Given the description of an element on the screen output the (x, y) to click on. 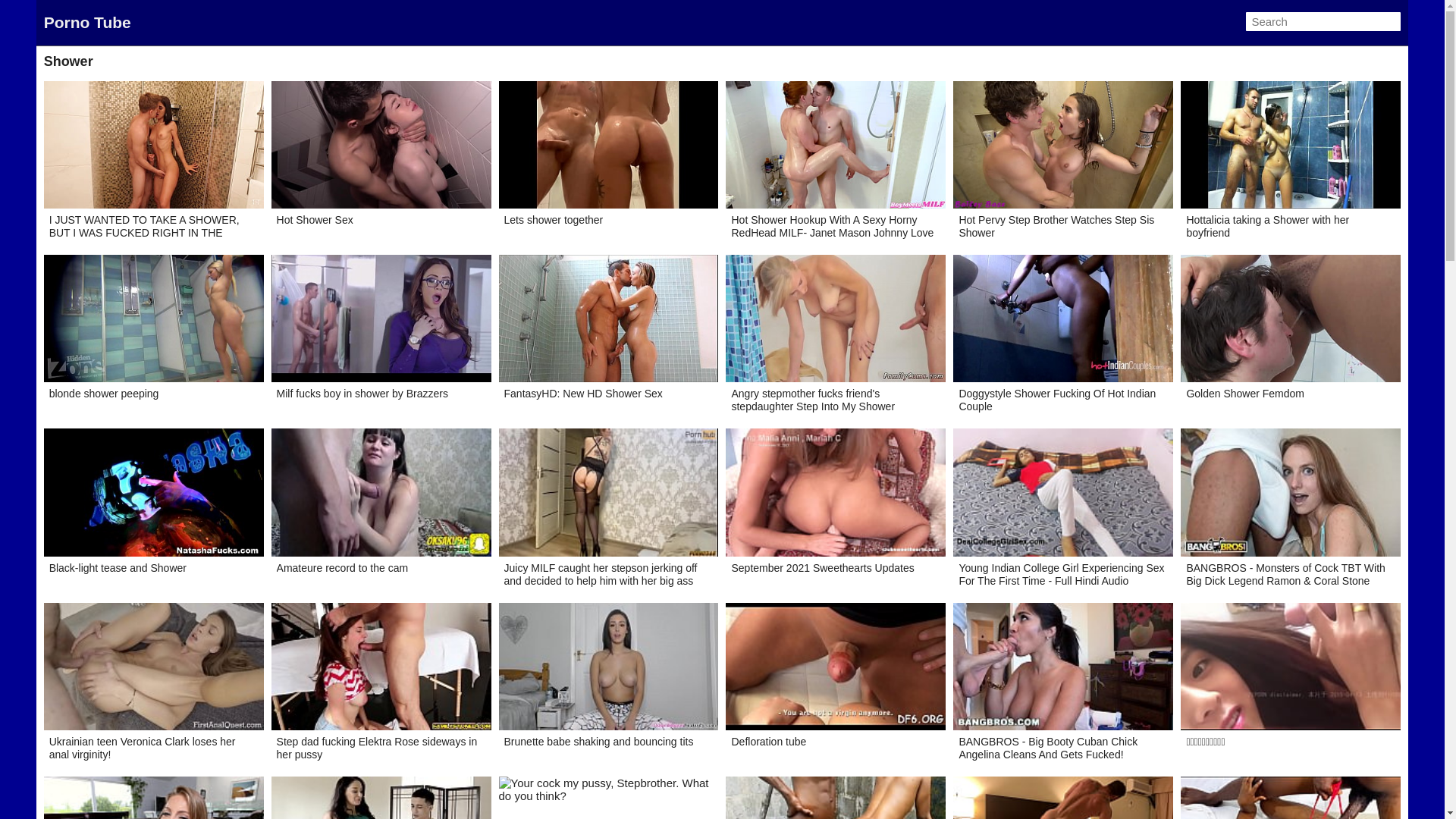
Porno Tube Element type: text (87, 22)
